Given the description of an element on the screen output the (x, y) to click on. 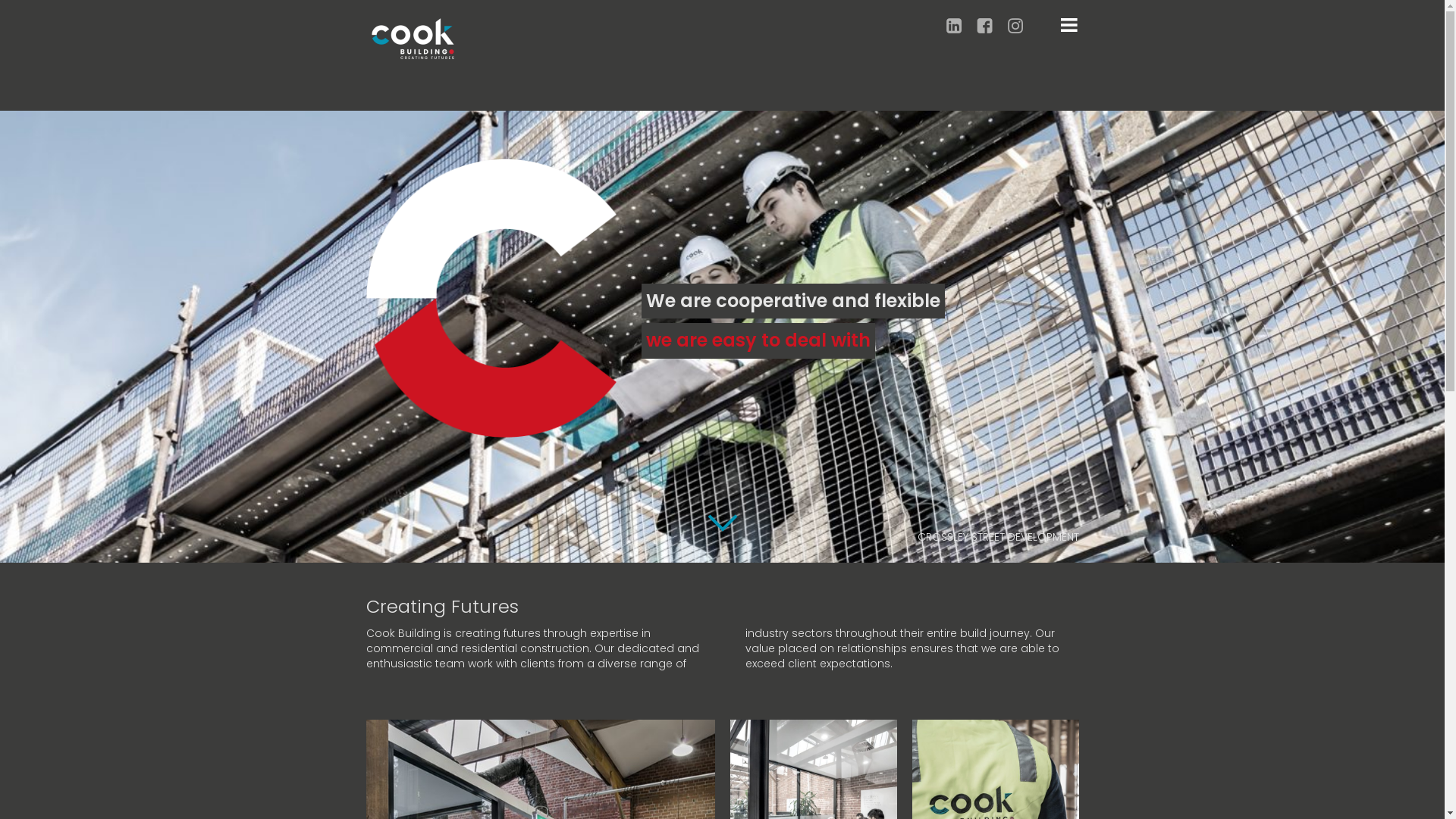
return to cook Home Page Element type: hover (411, 38)
